Given the description of an element on the screen output the (x, y) to click on. 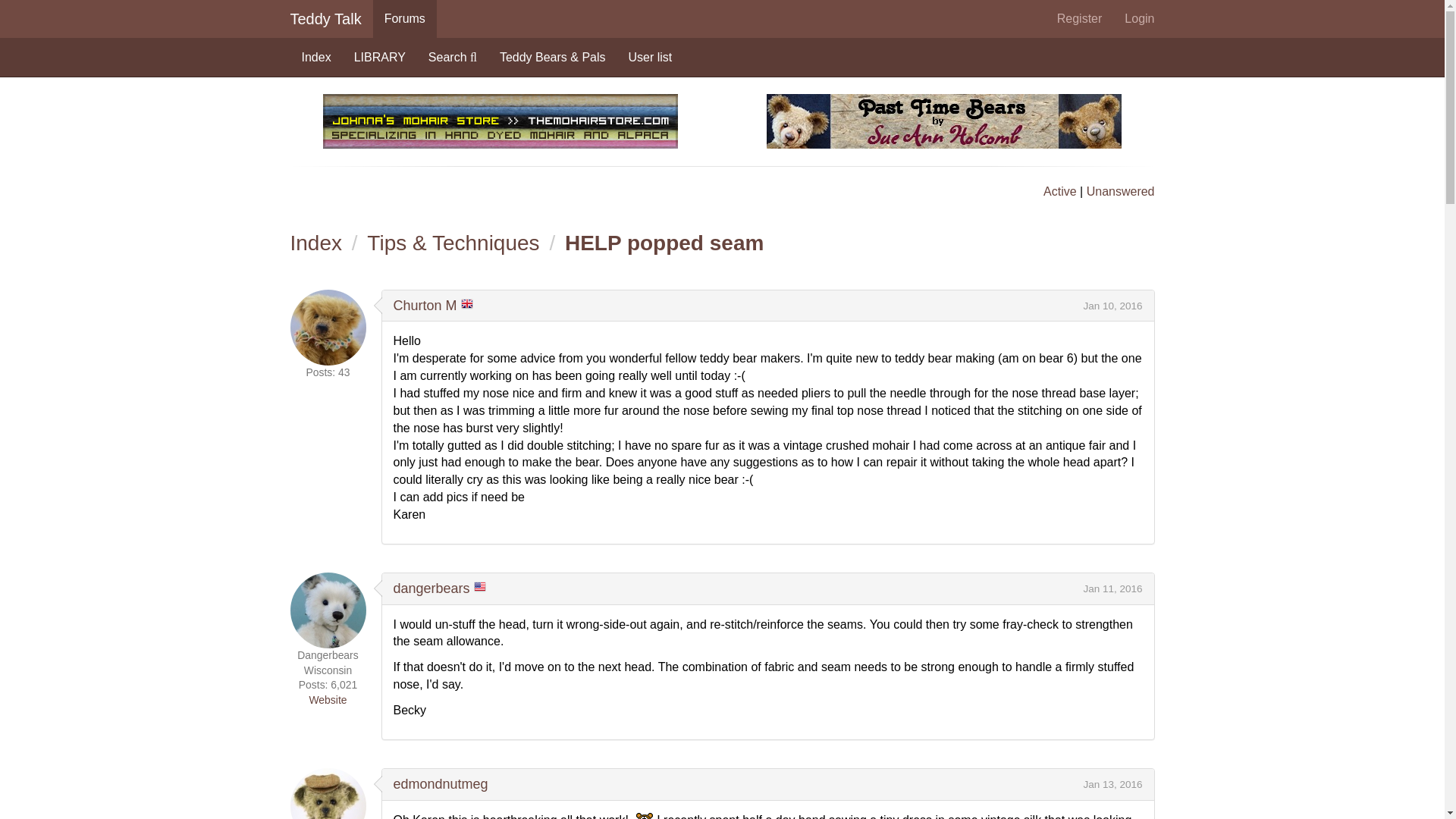
Teddy Talk (325, 18)
Website (327, 699)
Search (451, 57)
Find topics with no replies. (1120, 191)
Active (1060, 191)
Forums (404, 18)
Login (1139, 18)
HELP popped seam (663, 242)
